Given the description of an element on the screen output the (x, y) to click on. 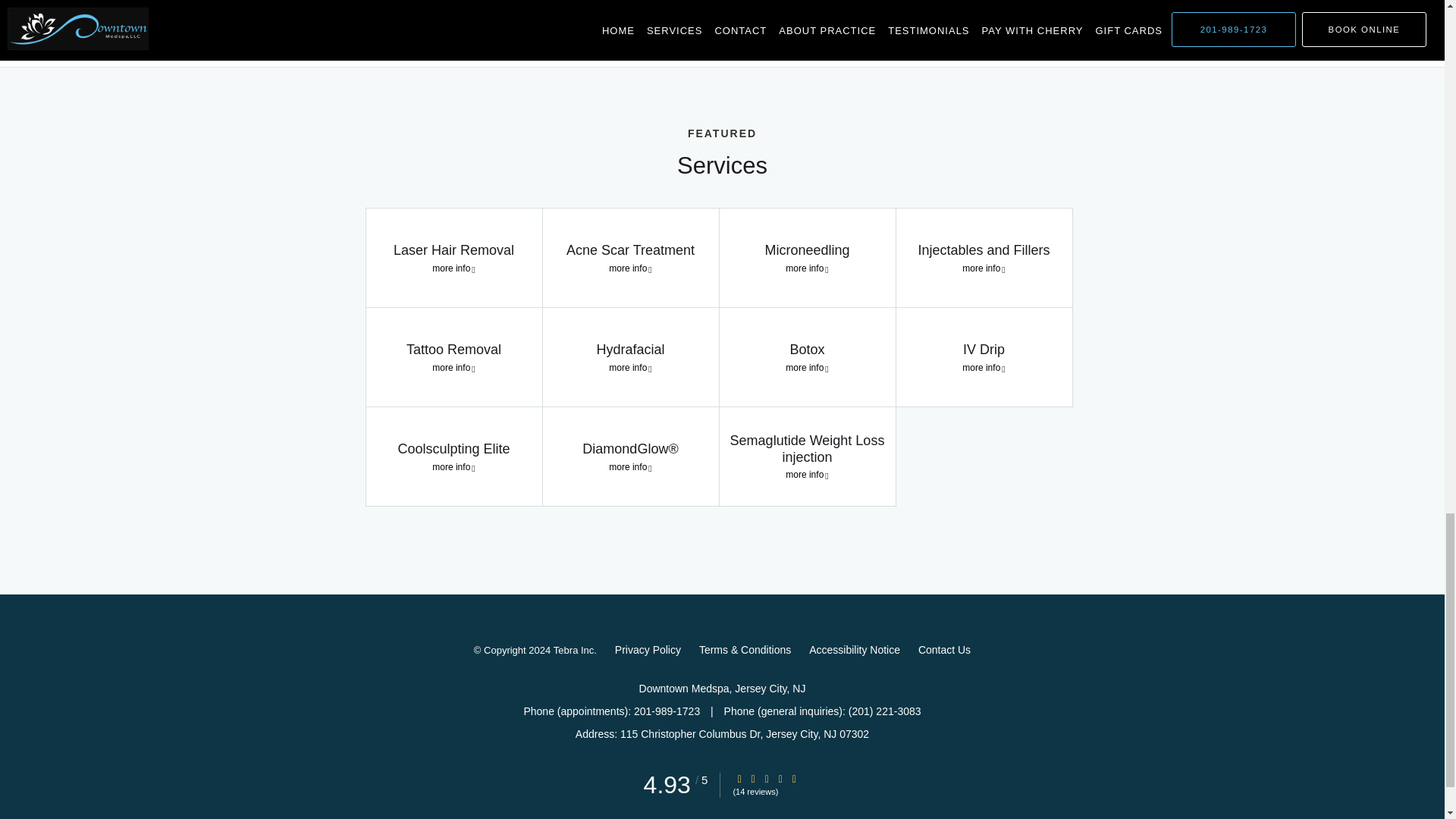
Star Rating (780, 778)
Star Rating (753, 778)
Star Rating (794, 778)
Star Rating (766, 778)
Star Rating (738, 778)
